Given the description of an element on the screen output the (x, y) to click on. 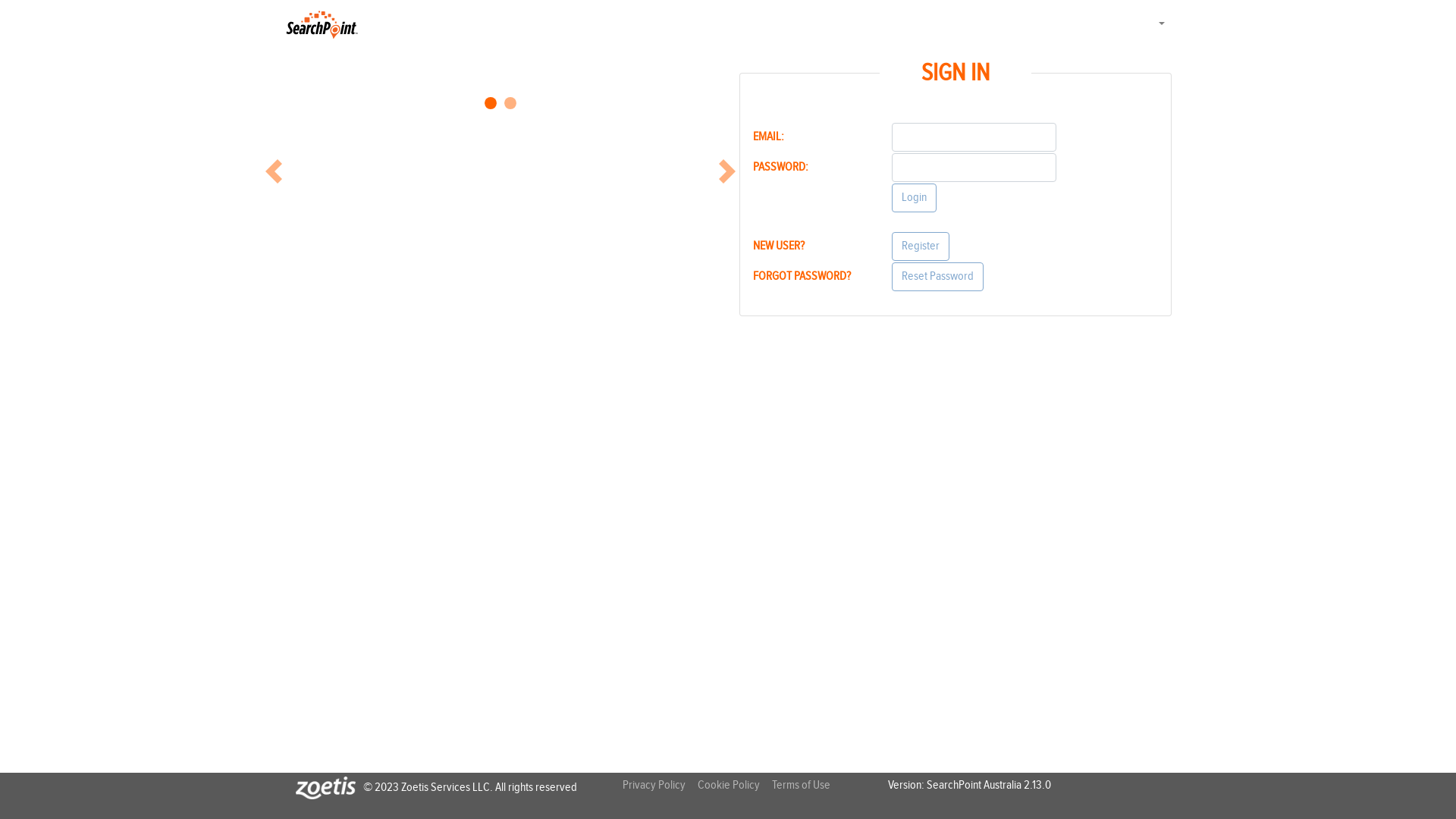
Register Element type: text (920, 246)
Reset Password Element type: text (937, 276)
Login Element type: text (913, 197)
Privacy Policy Element type: text (659, 785)
Next Element type: text (727, 171)
Previous Element type: text (273, 171)
Cookie Policy Element type: text (734, 785)
Terms of Use Element type: text (806, 785)
